Given the description of an element on the screen output the (x, y) to click on. 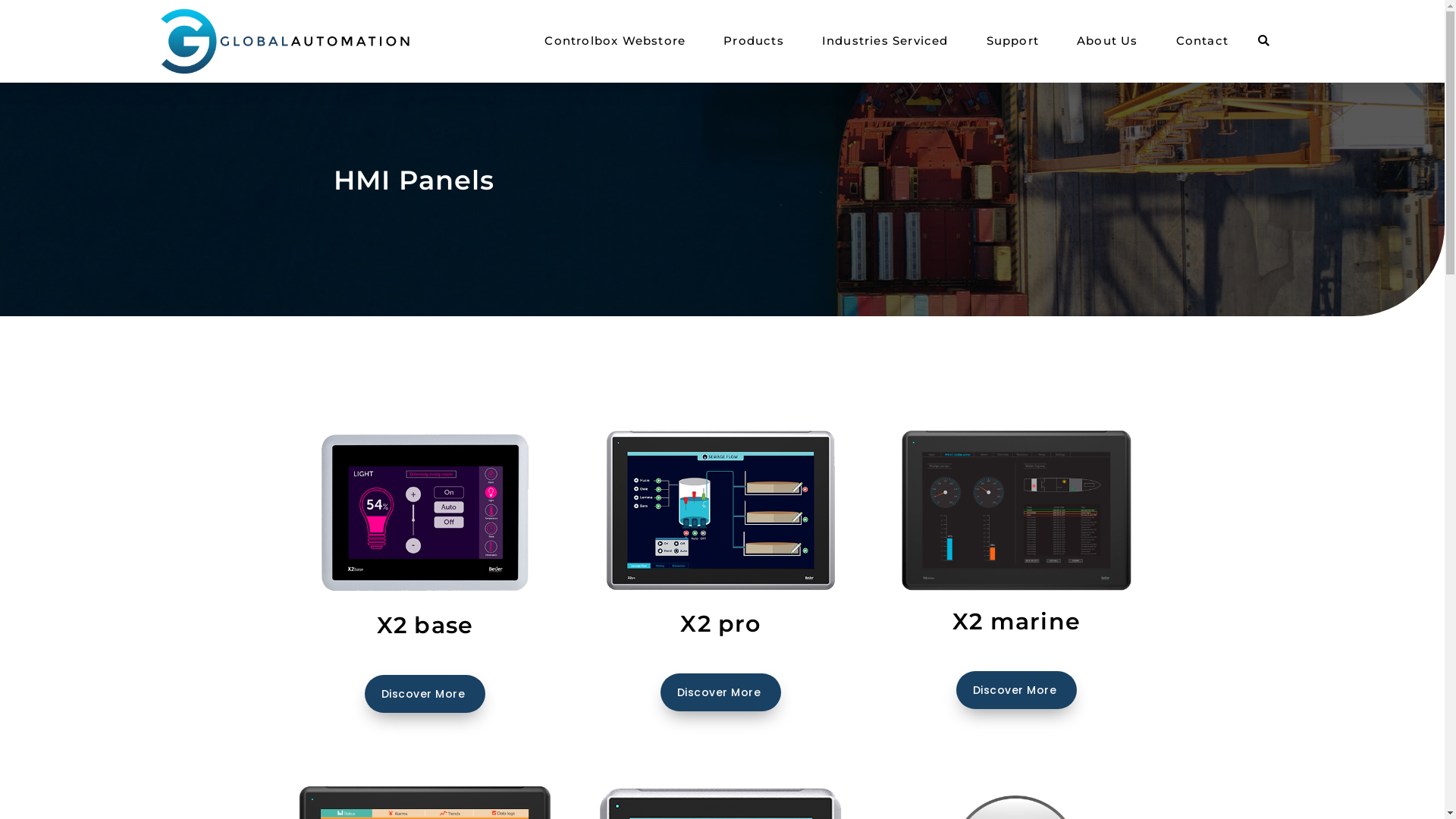
About Us Element type: text (1107, 40)
Discover More Element type: text (1016, 690)
Controlbox Webstore Element type: text (614, 40)
Support Element type: text (1012, 40)
Products Element type: text (753, 40)
Contact Element type: text (1202, 40)
Industries Serviced Element type: text (885, 40)
Discover More Element type: text (720, 692)
Discover More Element type: text (425, 693)
